Given the description of an element on the screen output the (x, y) to click on. 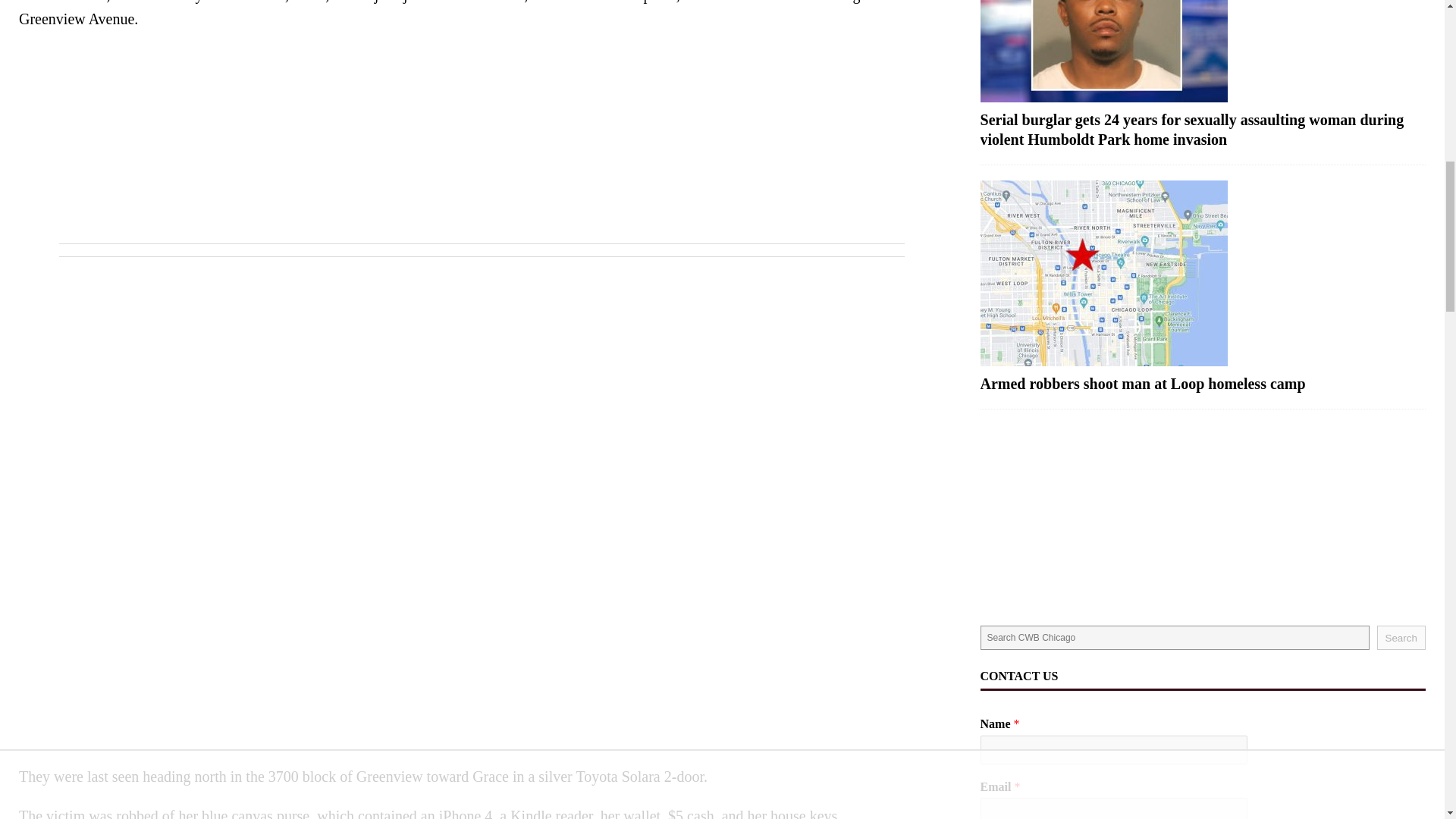
Search (1401, 637)
Armed robbers shoot man at Loop homeless camp (1142, 383)
Armed robbers shoot man at Loop homeless camp (1142, 383)
Armed robbers shoot man at Loop homeless camp (1202, 273)
